Given the description of an element on the screen output the (x, y) to click on. 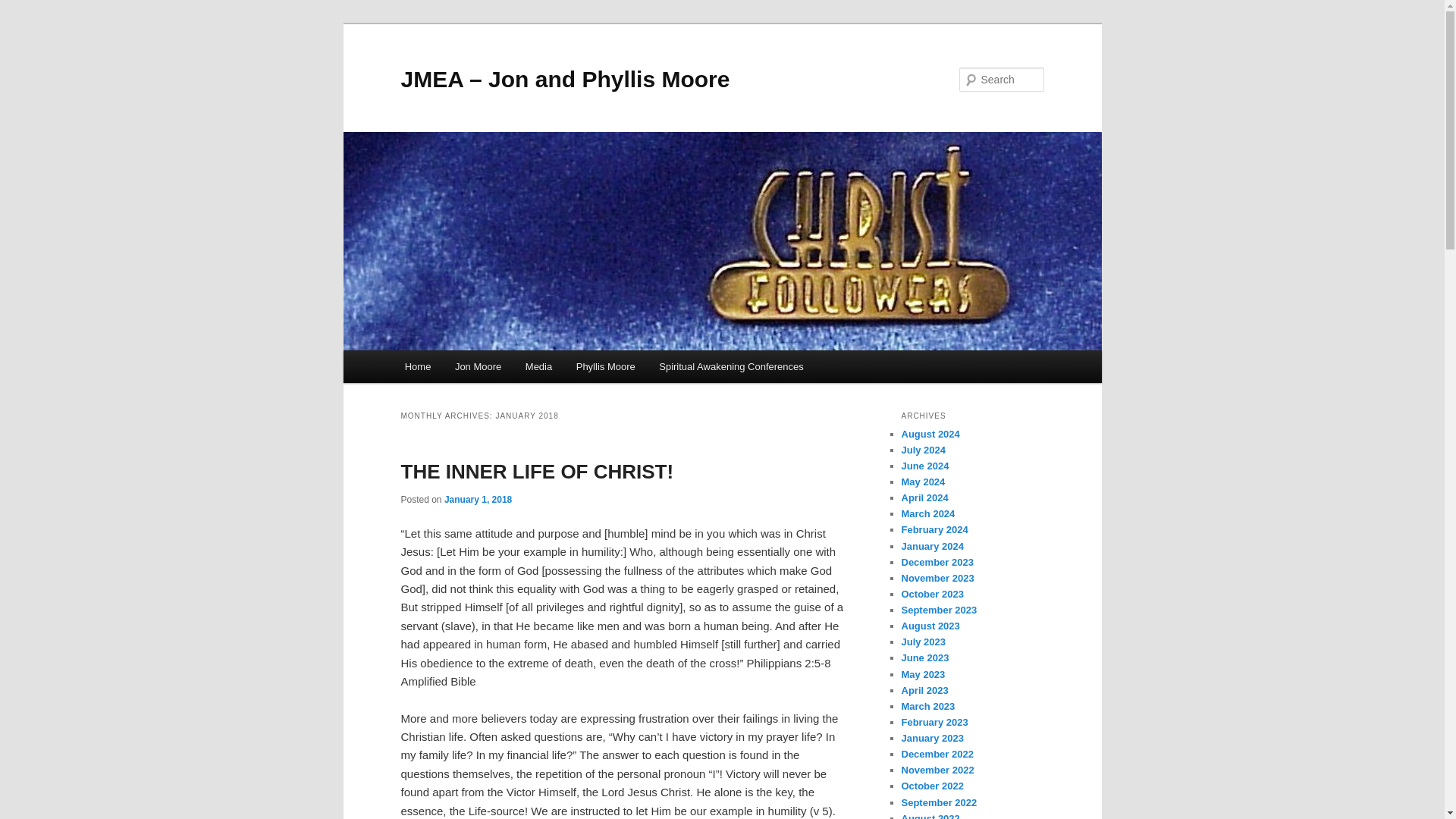
February 2024 (934, 529)
August 2024 (930, 433)
November 2023 (937, 577)
August 2023 (930, 625)
June 2023 (925, 657)
November 2022 (937, 769)
January 2024 (931, 546)
January 1, 2018 (478, 499)
July 2023 (922, 641)
